Given the description of an element on the screen output the (x, y) to click on. 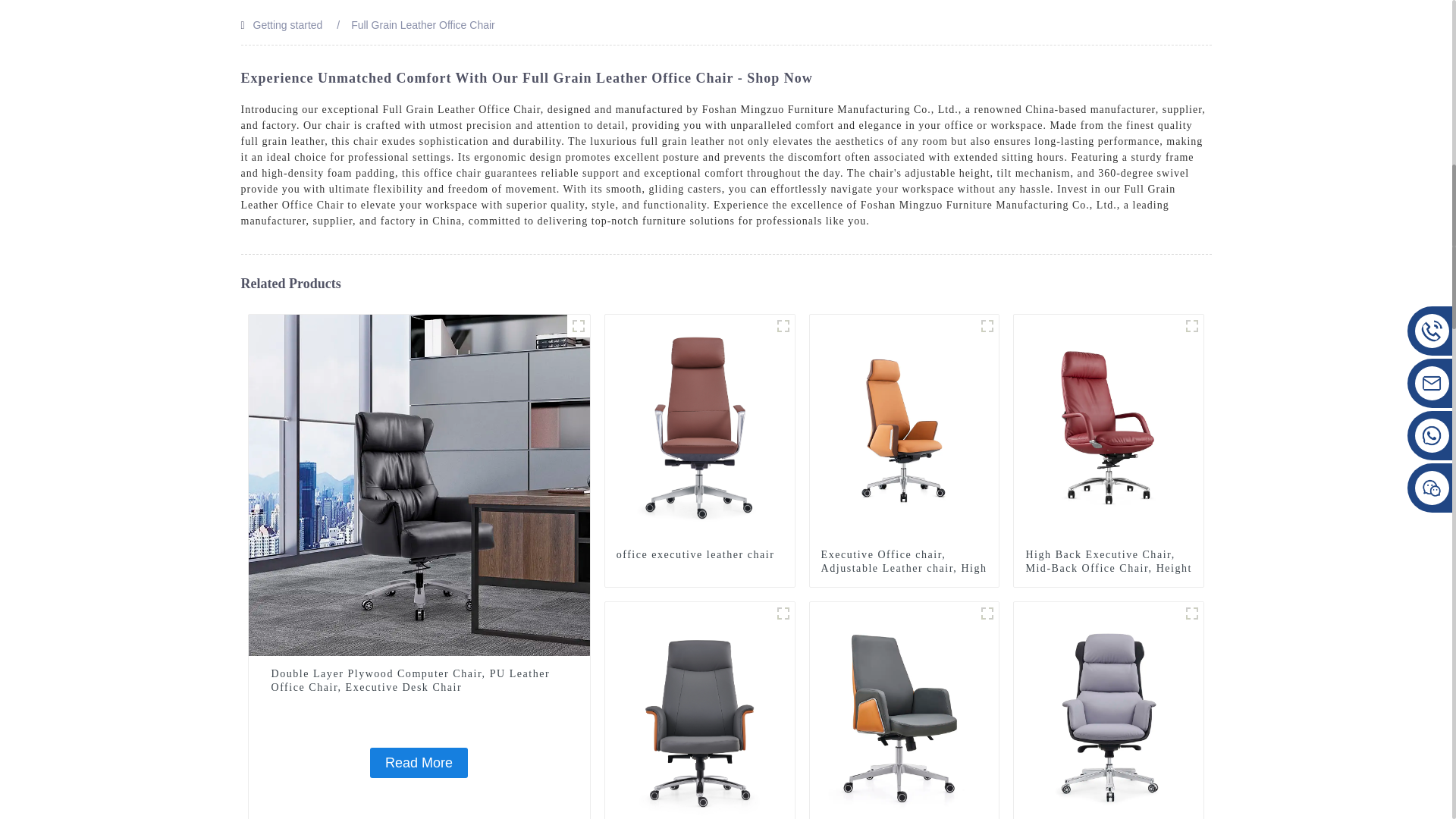
office executive leather chair (699, 554)
Getting started (288, 24)
A2403P (782, 325)
office executive leather chair (699, 554)
Full Grain Leather Office Chair (422, 24)
Read More (418, 762)
